Given the description of an element on the screen output the (x, y) to click on. 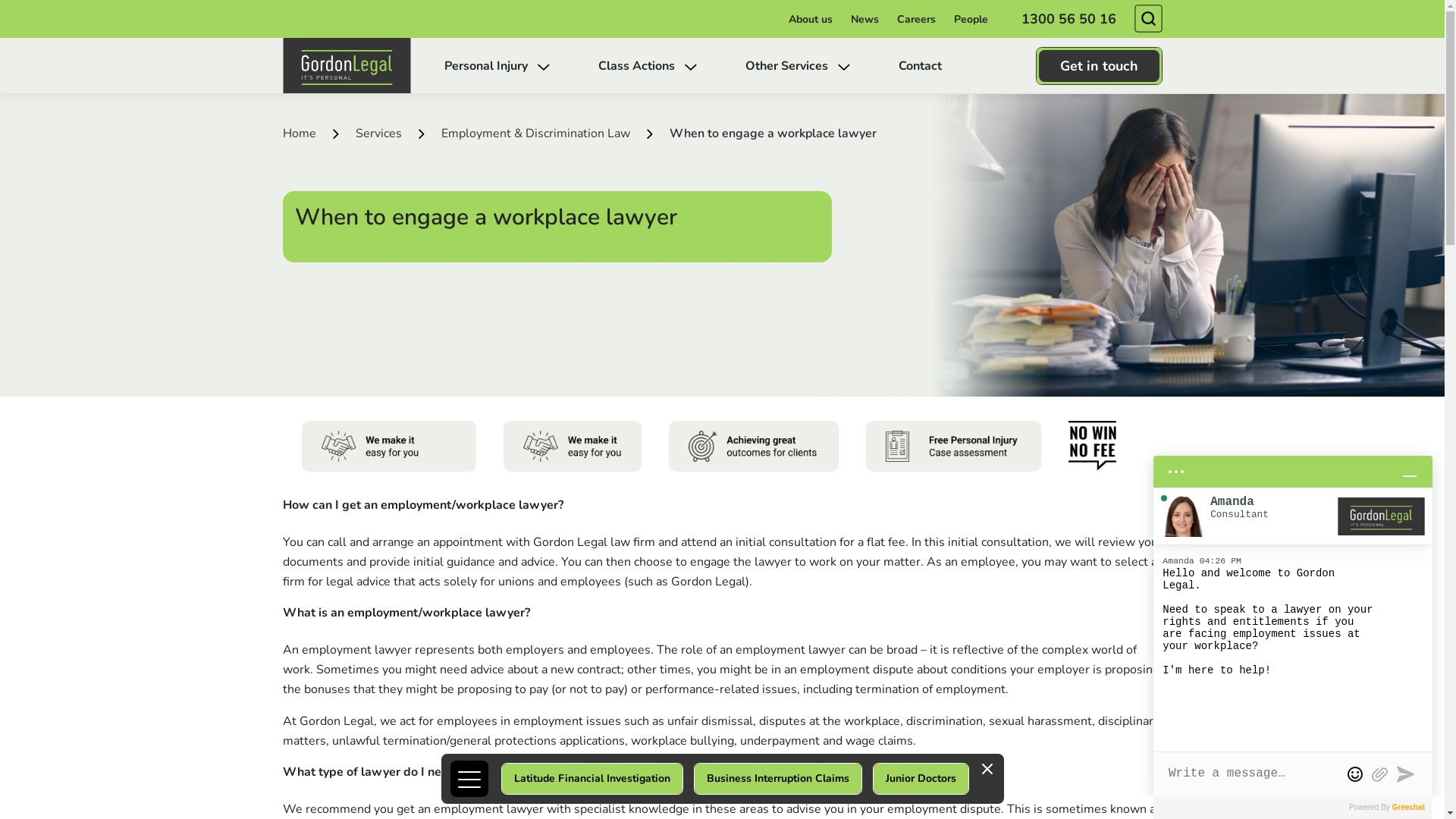
Personal Injury Element type: text (496, 65)
Business Interruption Claims Element type: text (777, 778)
Latitude Financial Investigation Element type: text (592, 778)
Search Element type: text (1148, 18)
Get in touch Element type: text (1098, 65)
About us Element type: text (810, 19)
Class Actions Element type: text (646, 65)
Contact Element type: text (919, 65)
Home Element type: text (298, 133)
Other Services Element type: text (796, 65)
News Element type: text (864, 19)
Junior Doctors Element type: text (920, 778)
People Element type: text (970, 19)
Services Element type: text (377, 133)
Gordon Legal Element type: text (346, 65)
1300 56 50 16 Element type: text (1067, 18)
Careers Element type: text (915, 19)
LiveChat chat widget Element type: hover (1292, 619)
Greechat Element type: text (1408, 807)
Employment & Discrimination Law Element type: text (535, 133)
